Given the description of an element on the screen output the (x, y) to click on. 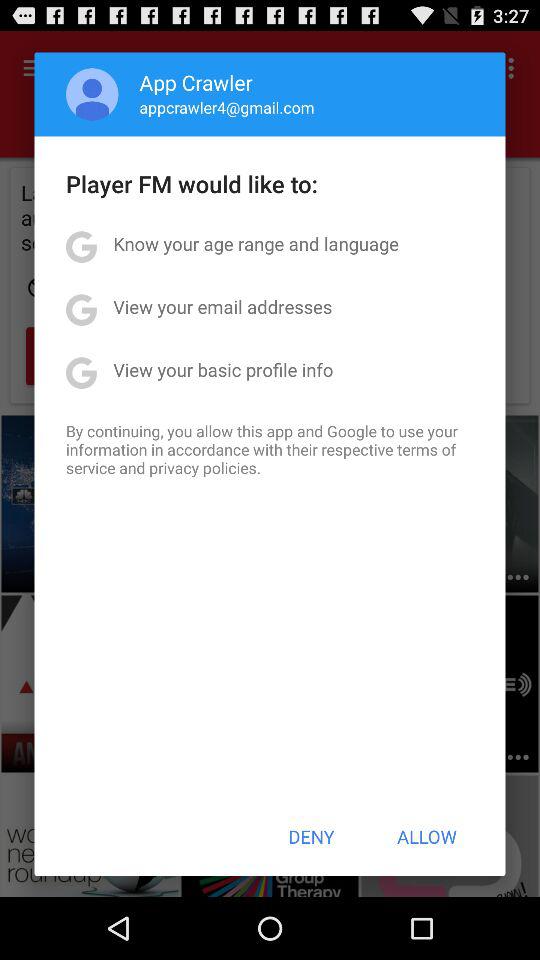
scroll until the appcrawler4@gmail.com app (226, 107)
